Given the description of an element on the screen output the (x, y) to click on. 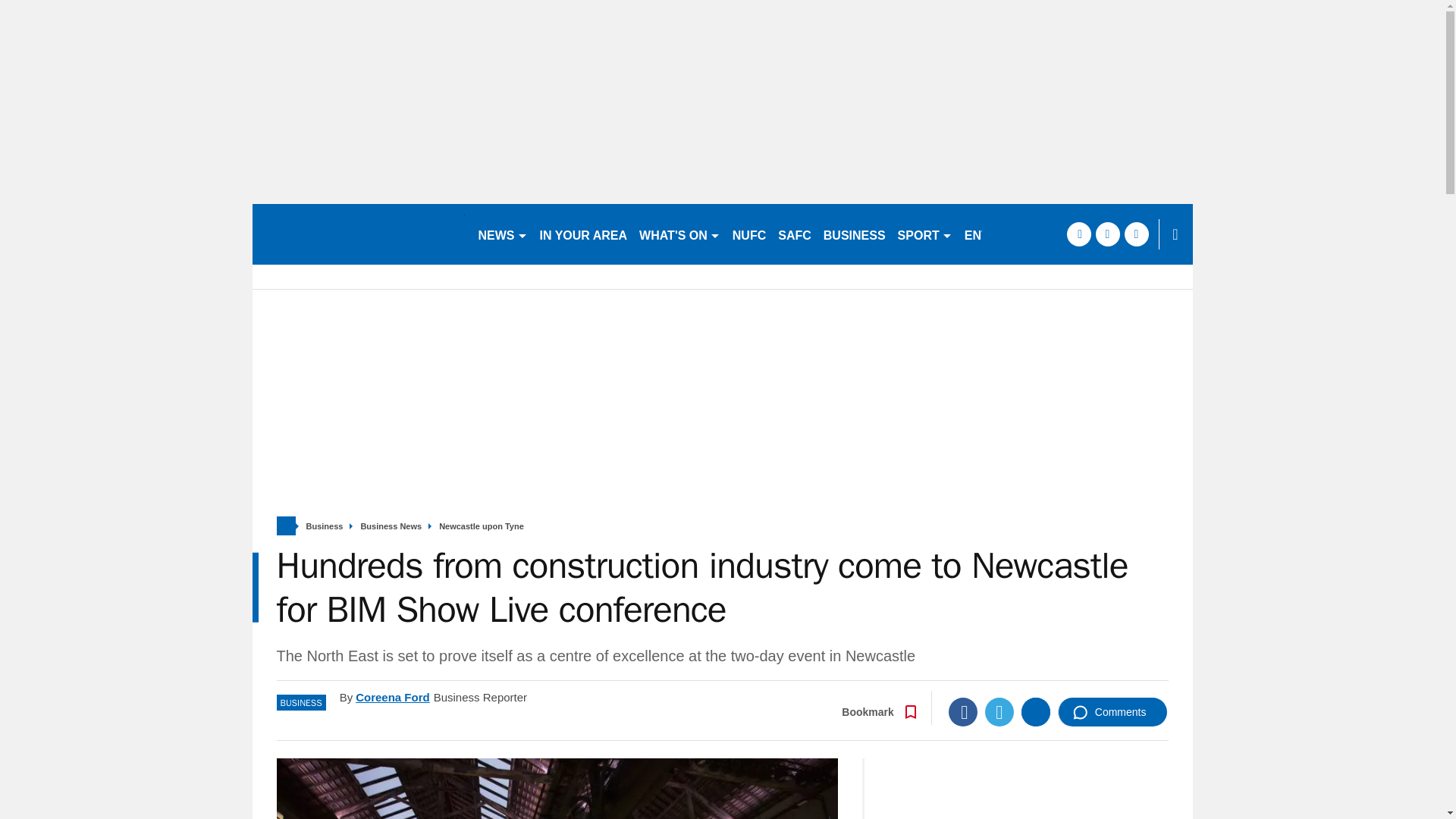
twitter (1026, 233)
facebook (997, 233)
Comments (1112, 711)
SPORT (924, 233)
Facebook (962, 711)
BUSINESS (853, 233)
instagram (1055, 233)
NEWS (501, 233)
WHAT'S ON (679, 233)
IN YOUR AREA (583, 233)
